Given the description of an element on the screen output the (x, y) to click on. 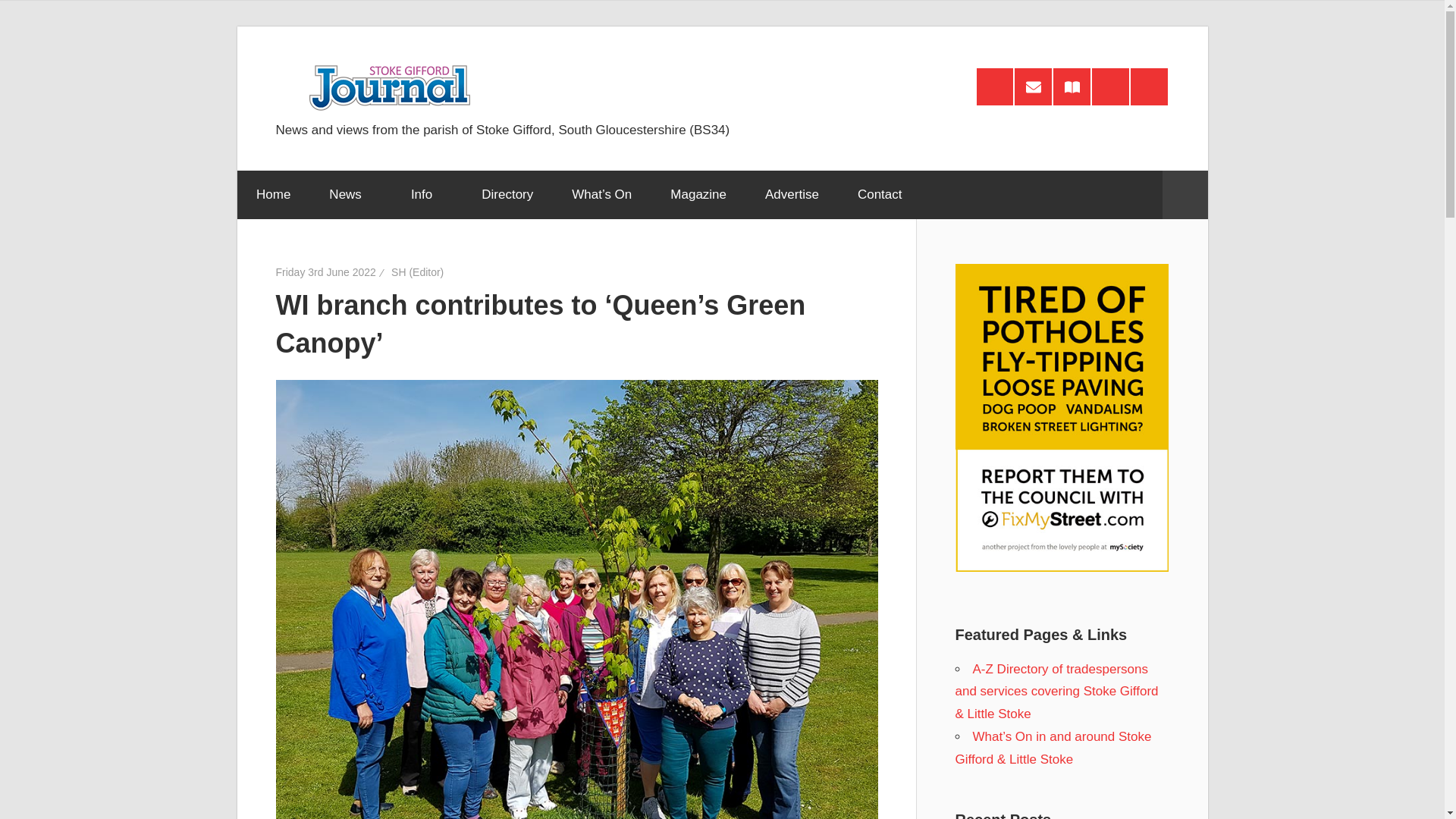
11:22pm (325, 272)
Stoke Gifford Journal on Twitter (1149, 86)
Facebook (1110, 86)
Twitter (1149, 86)
Subscribe by Email (1032, 86)
RSS news feed of the Stoke Gifford Journal (994, 86)
Stoke Gifford Journal on Facebook (1110, 86)
Info (426, 194)
Get the Stoke Gifford Journal delivered by email (1032, 86)
Read our Magazine (1071, 86)
Feed (994, 86)
Home (271, 194)
News (350, 194)
